Given the description of an element on the screen output the (x, y) to click on. 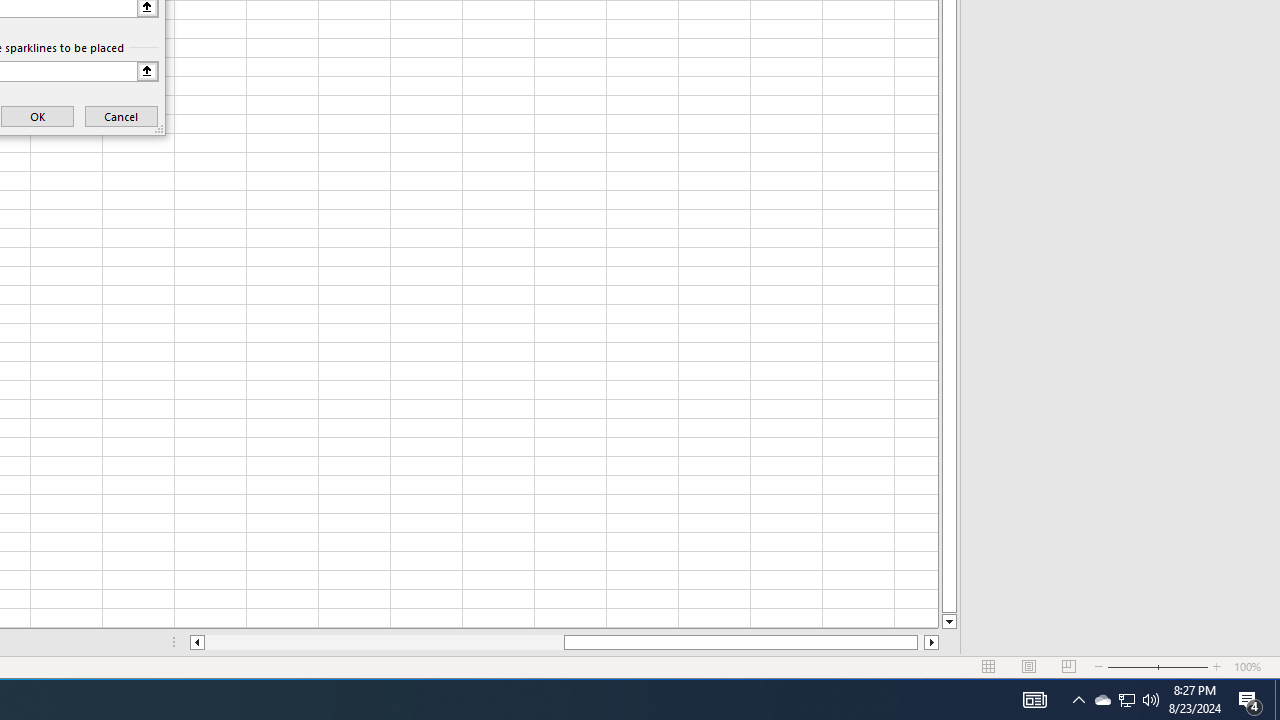
Page left (384, 642)
Page right (920, 642)
